Given the description of an element on the screen output the (x, y) to click on. 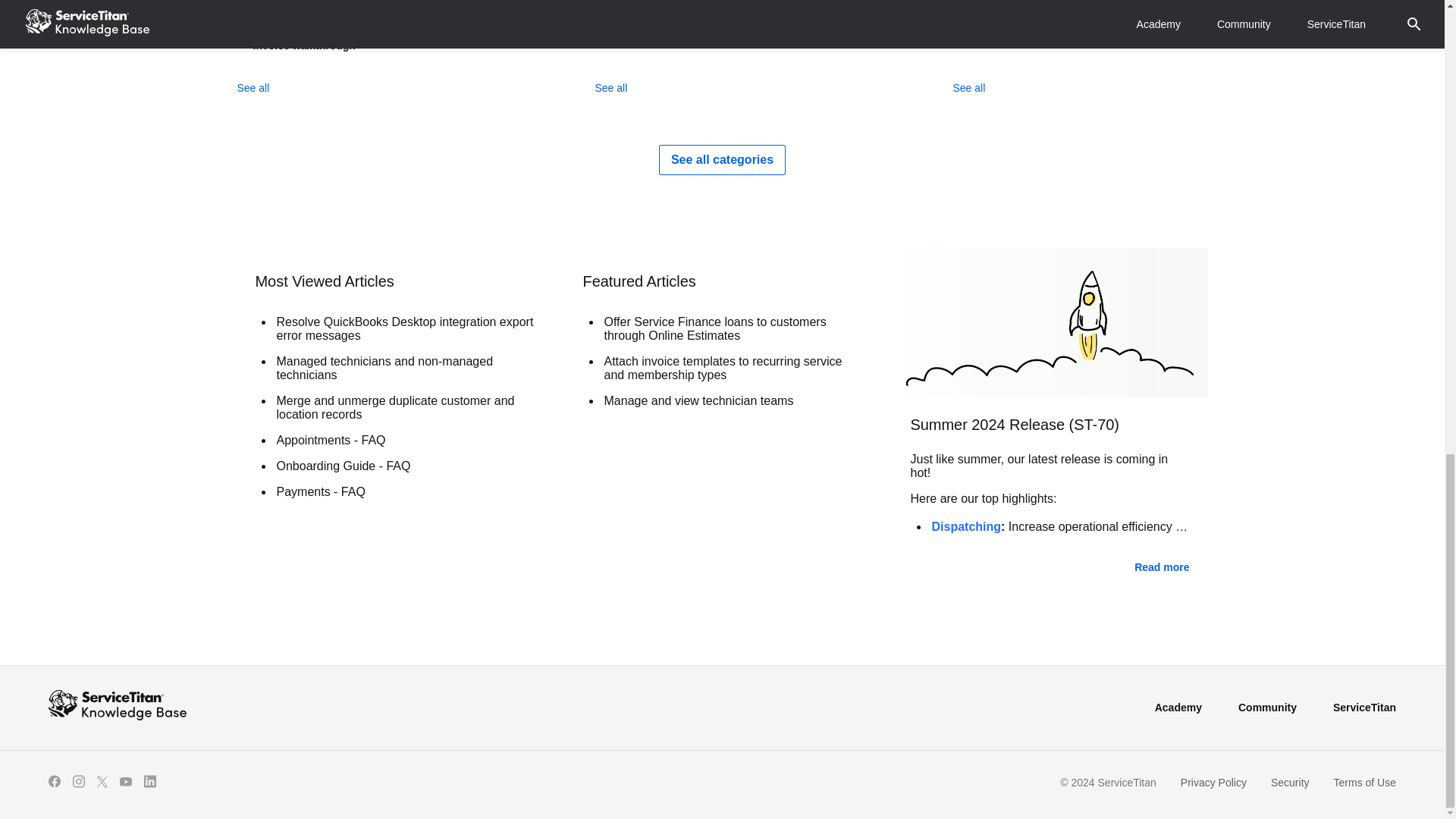
Invoice walkthrough (372, 45)
See all (610, 88)
Collect a payment (372, 10)
Place outbound calls (730, 2)
See all categories (722, 159)
Onboarding Guide - FAQ (405, 466)
See all categories (722, 159)
See all (968, 88)
Merge and unmerge duplicate customer and location records (405, 407)
